Given the description of an element on the screen output the (x, y) to click on. 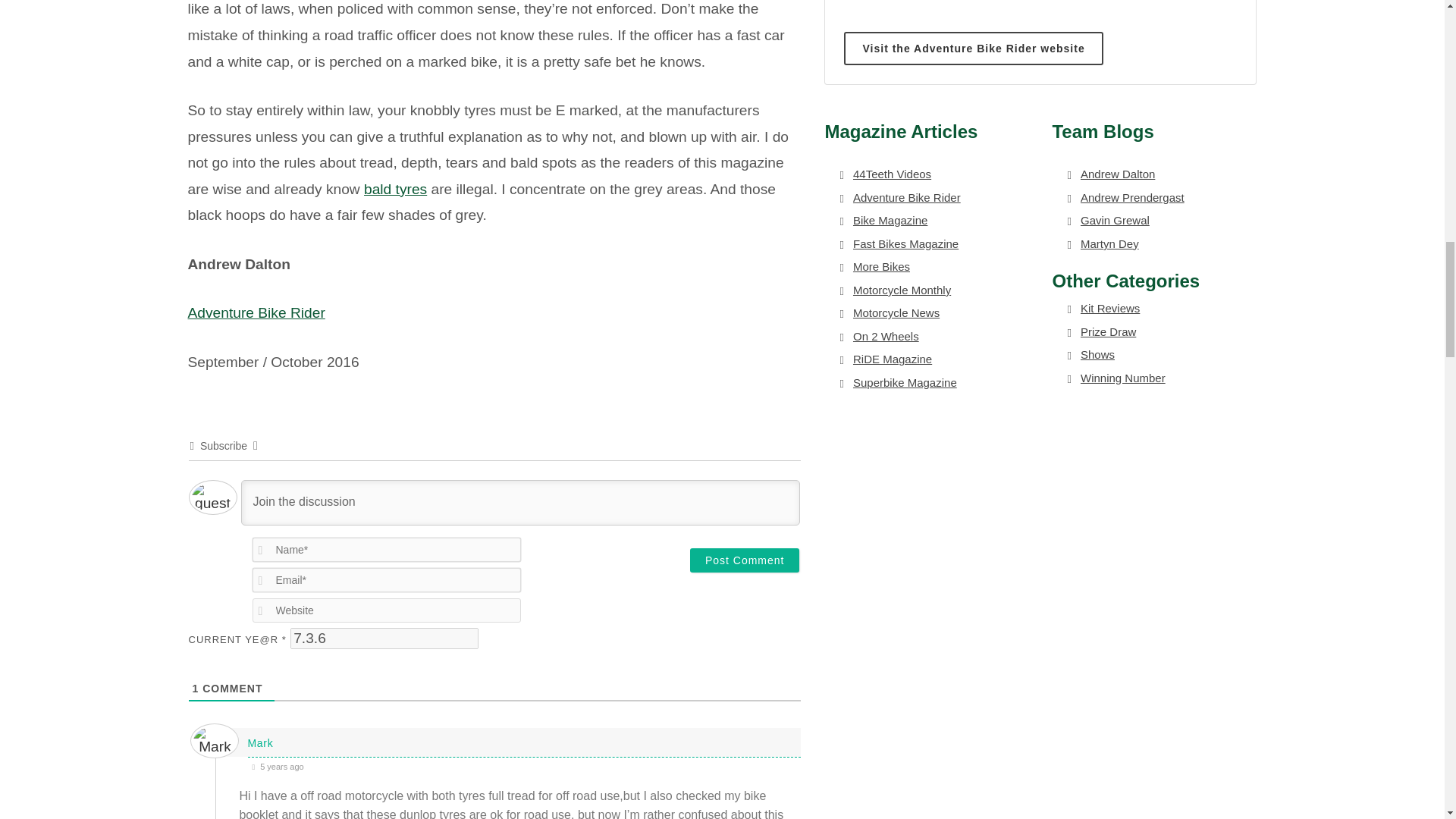
Fast Bikes Magazine (902, 244)
Motorcycle News (893, 313)
44Teeth Videos (888, 174)
Post Comment (744, 559)
RiDE Magazine (889, 359)
On 2 Wheels (882, 336)
June 20, 2019 1:08 pm (523, 765)
bald tyres (395, 188)
7.3.6 (384, 638)
Adventure Bike Rider (255, 312)
